Given the description of an element on the screen output the (x, y) to click on. 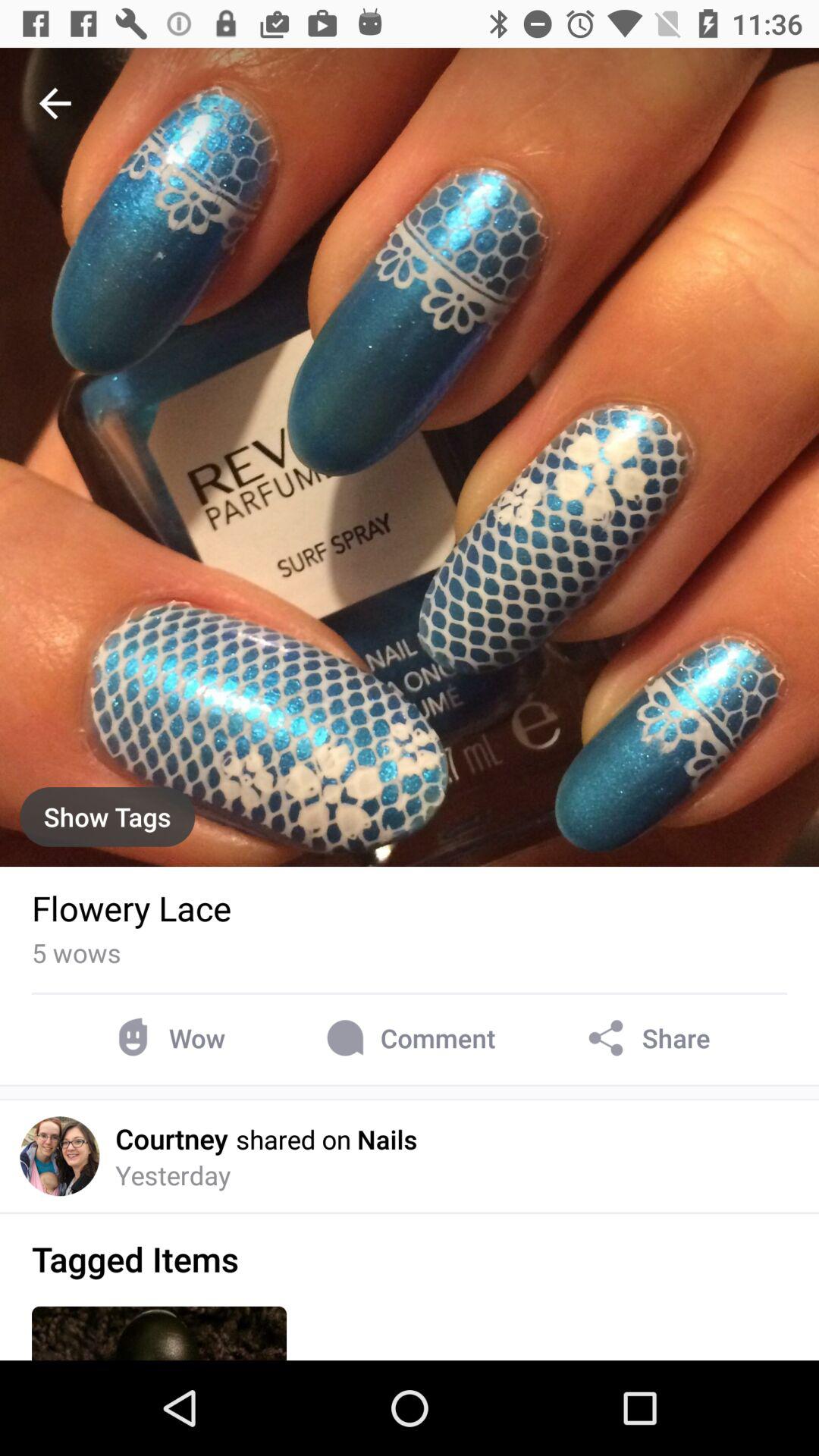
maximize picture (409, 456)
